Given the description of an element on the screen output the (x, y) to click on. 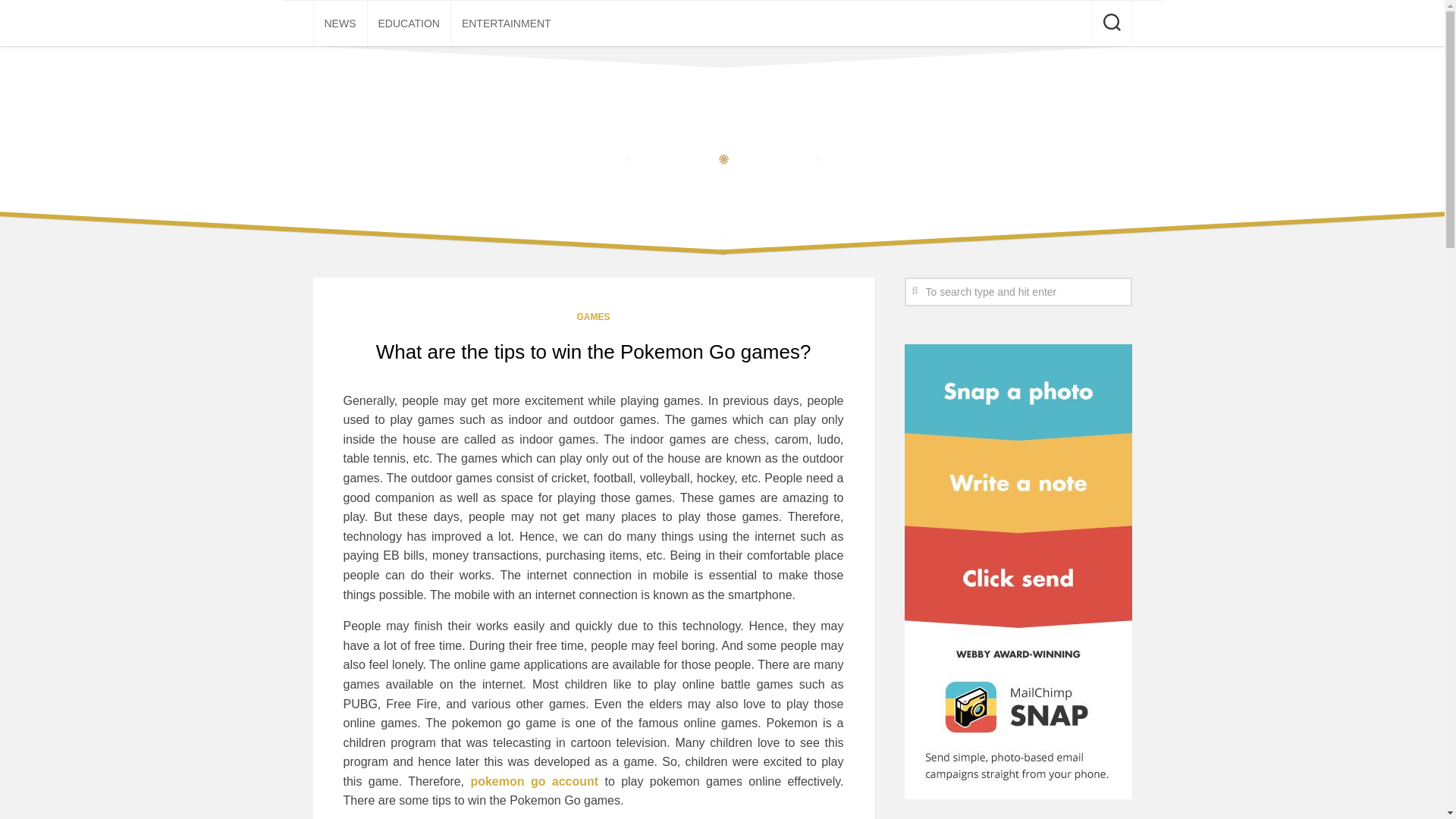
To search type and hit enter (1017, 291)
NEWS (340, 23)
To search type and hit enter (1017, 291)
pokemon go account (534, 780)
GAMES (593, 317)
EDUCATION (408, 23)
What are the tips to win the Pokemon Go games? (592, 351)
ENTERTAINMENT (506, 23)
